Given the description of an element on the screen output the (x, y) to click on. 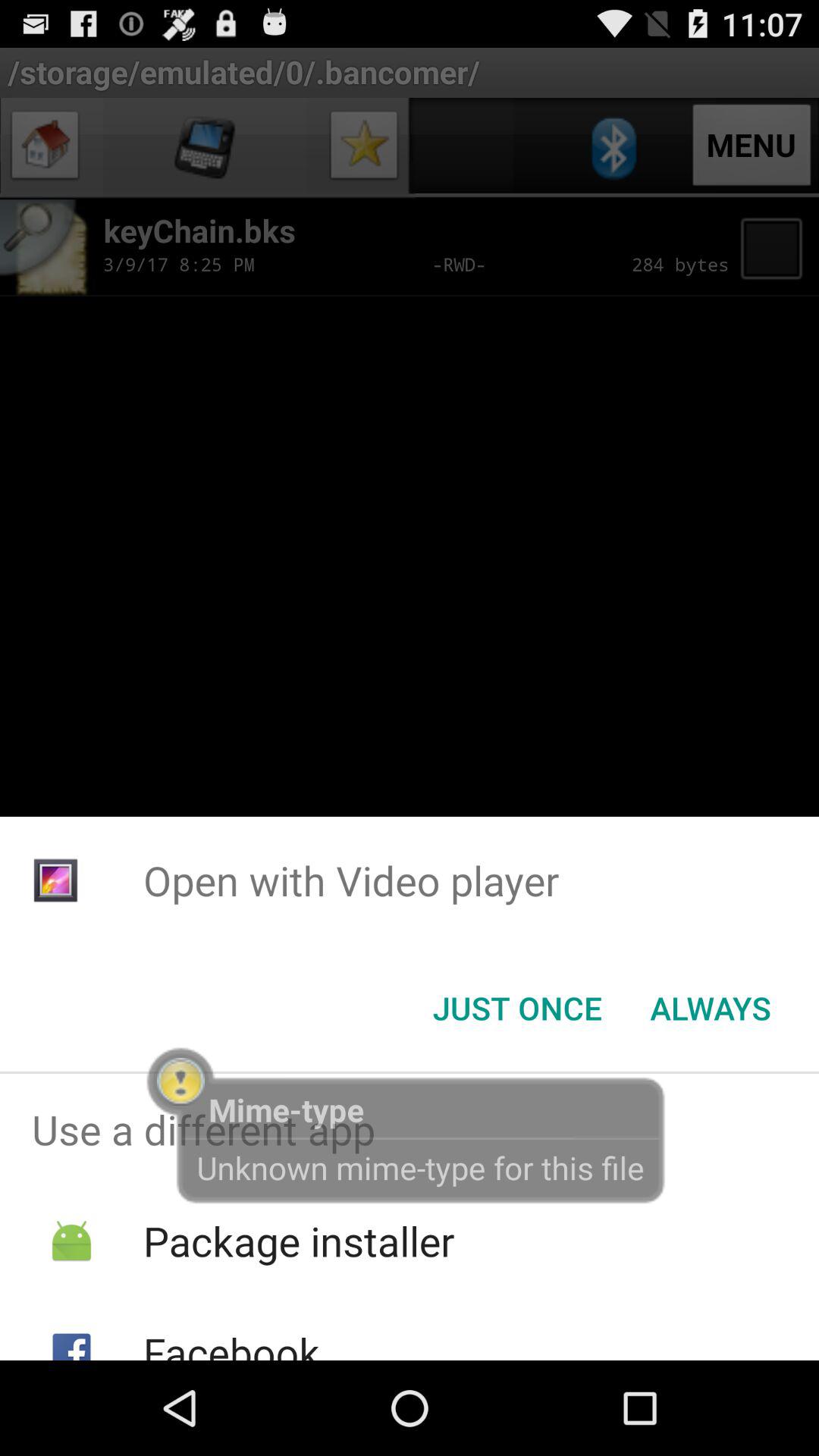
press the item to the right of the just once icon (710, 1007)
